Given the description of an element on the screen output the (x, y) to click on. 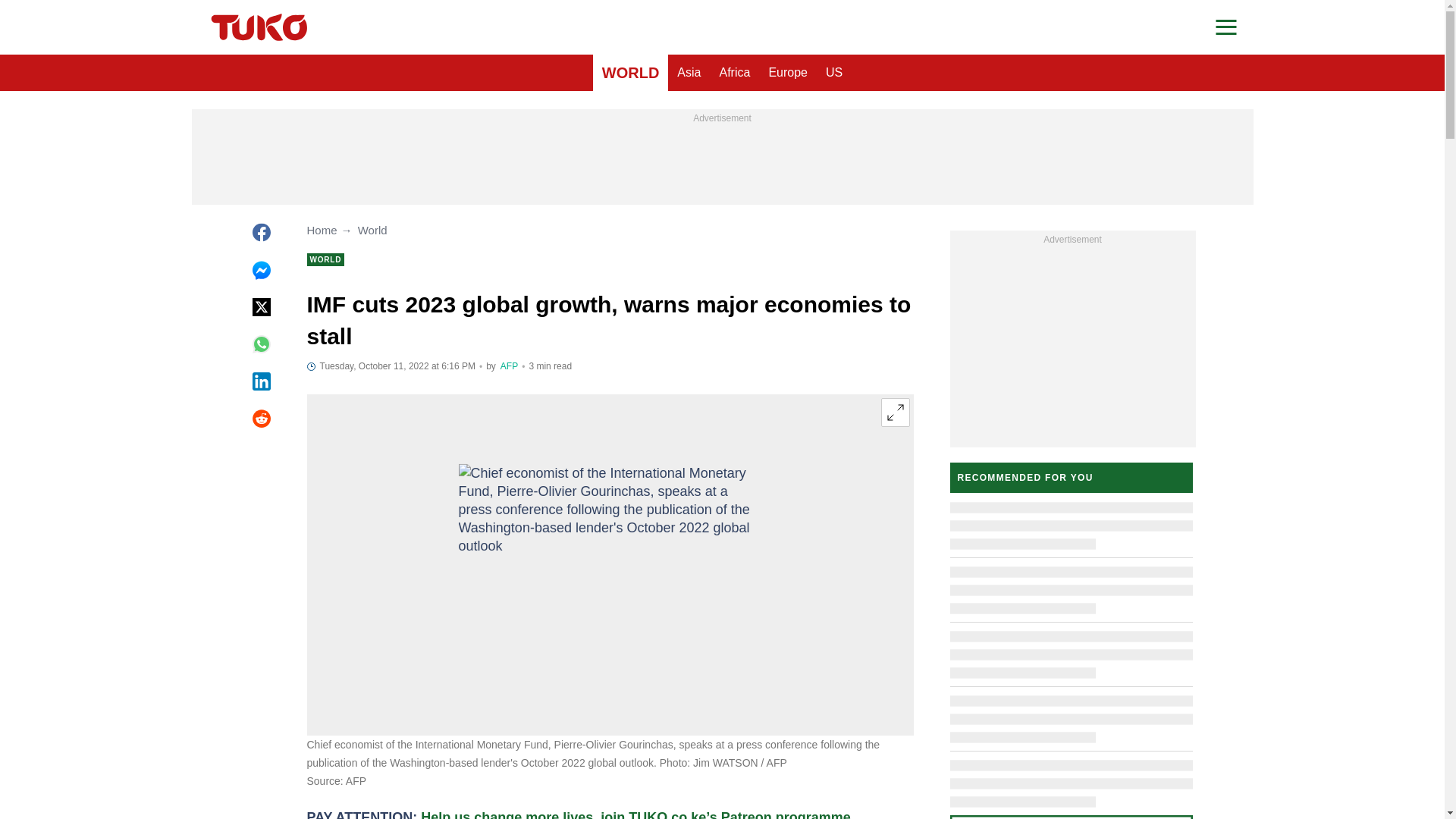
Africa (734, 72)
WORLD (630, 72)
Europe (787, 72)
Author page (509, 366)
Expand image (895, 412)
Asia (689, 72)
US (833, 72)
